Given the description of an element on the screen output the (x, y) to click on. 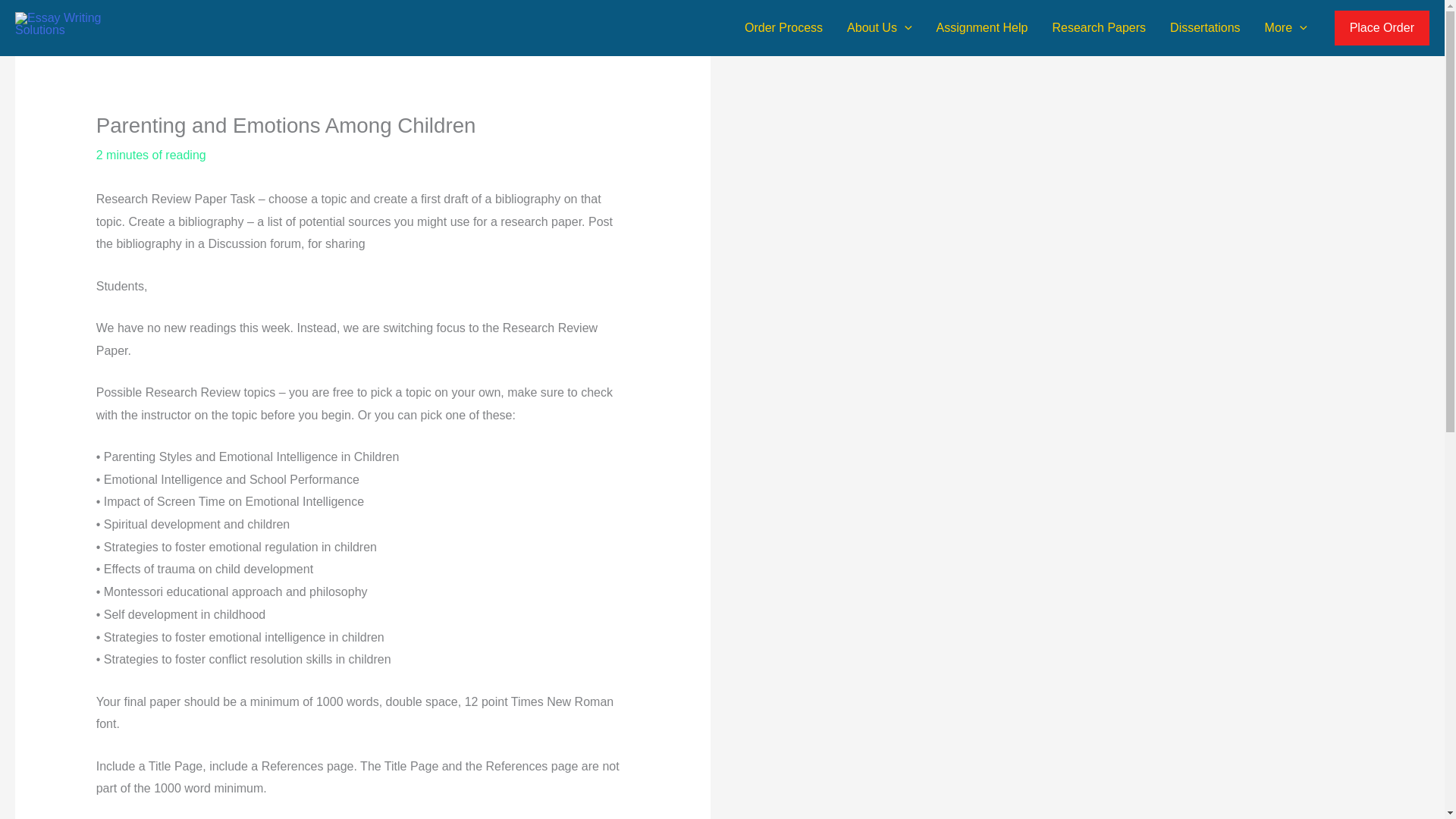
More (1285, 27)
Assignment Help (982, 27)
Place Order (1382, 27)
About Us (878, 27)
Dissertations (1204, 27)
Research Papers (1098, 27)
Order Process (783, 27)
